Given the description of an element on the screen output the (x, y) to click on. 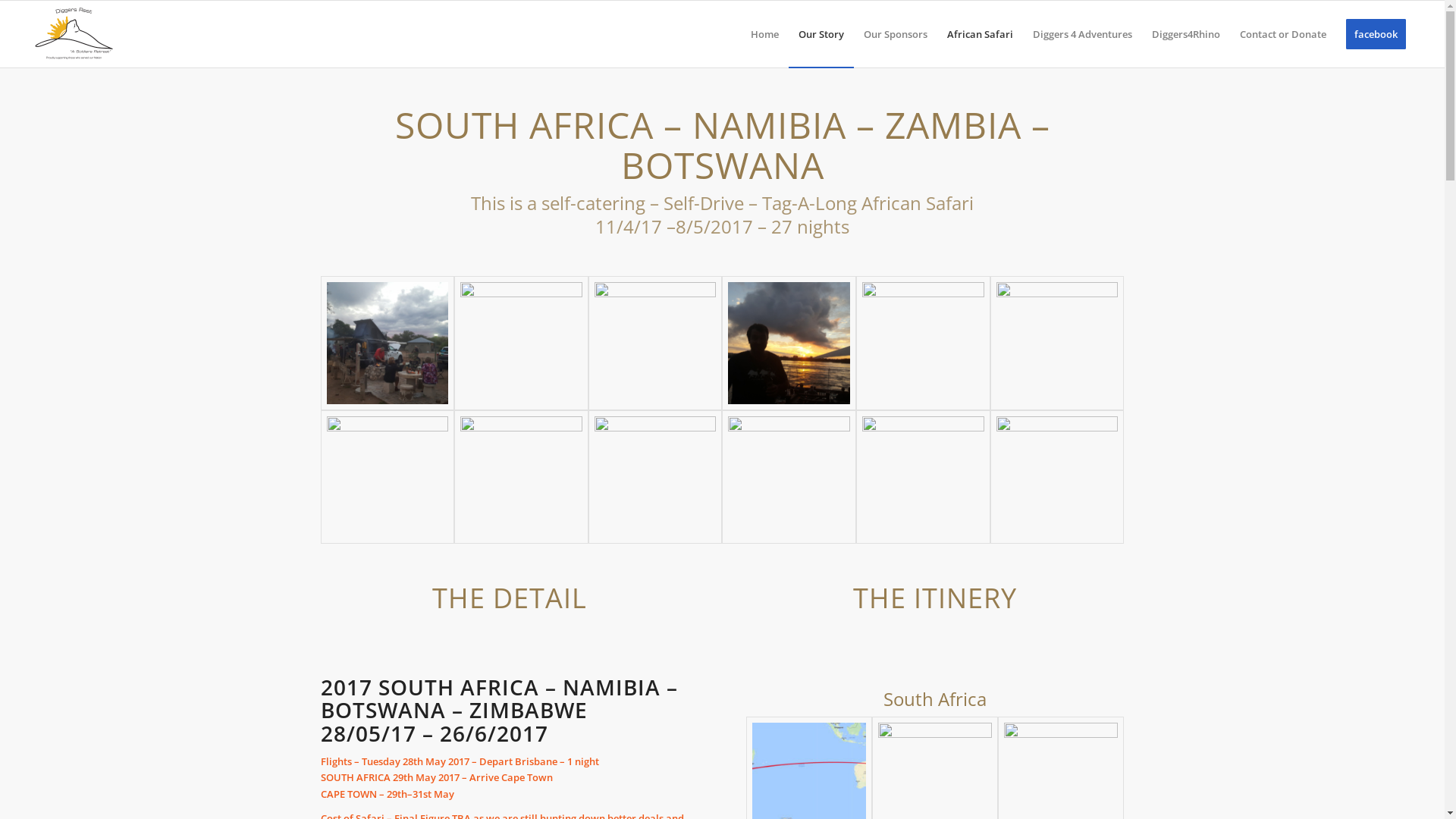
Our Sponsors Element type: text (895, 33)
20170415_141747 Element type: hover (655, 477)
20170424_175325 Element type: hover (923, 343)
Home Element type: text (764, 33)
Diggers4Rhino Element type: text (1186, 33)
20170415_163410 Element type: hover (1057, 477)
Contact or Donate Element type: text (1283, 33)
20170420_113611 Element type: hover (923, 477)
20170502_115234 Element type: hover (521, 477)
20170423_174441 Element type: hover (521, 343)
20170425_142842 Element type: hover (1057, 343)
20170424_125810 Element type: hover (655, 343)
African Safari Element type: text (979, 33)
20170414_110835 Element type: hover (788, 477)
20170417_185443 Element type: hover (387, 343)
Our Story Element type: text (820, 33)
20170424_175234 Element type: hover (788, 343)
facebook Element type: text (1375, 33)
Diggers 4 Adventures Element type: text (1082, 33)
20170429_135310 Element type: hover (387, 477)
